Given the description of an element on the screen output the (x, y) to click on. 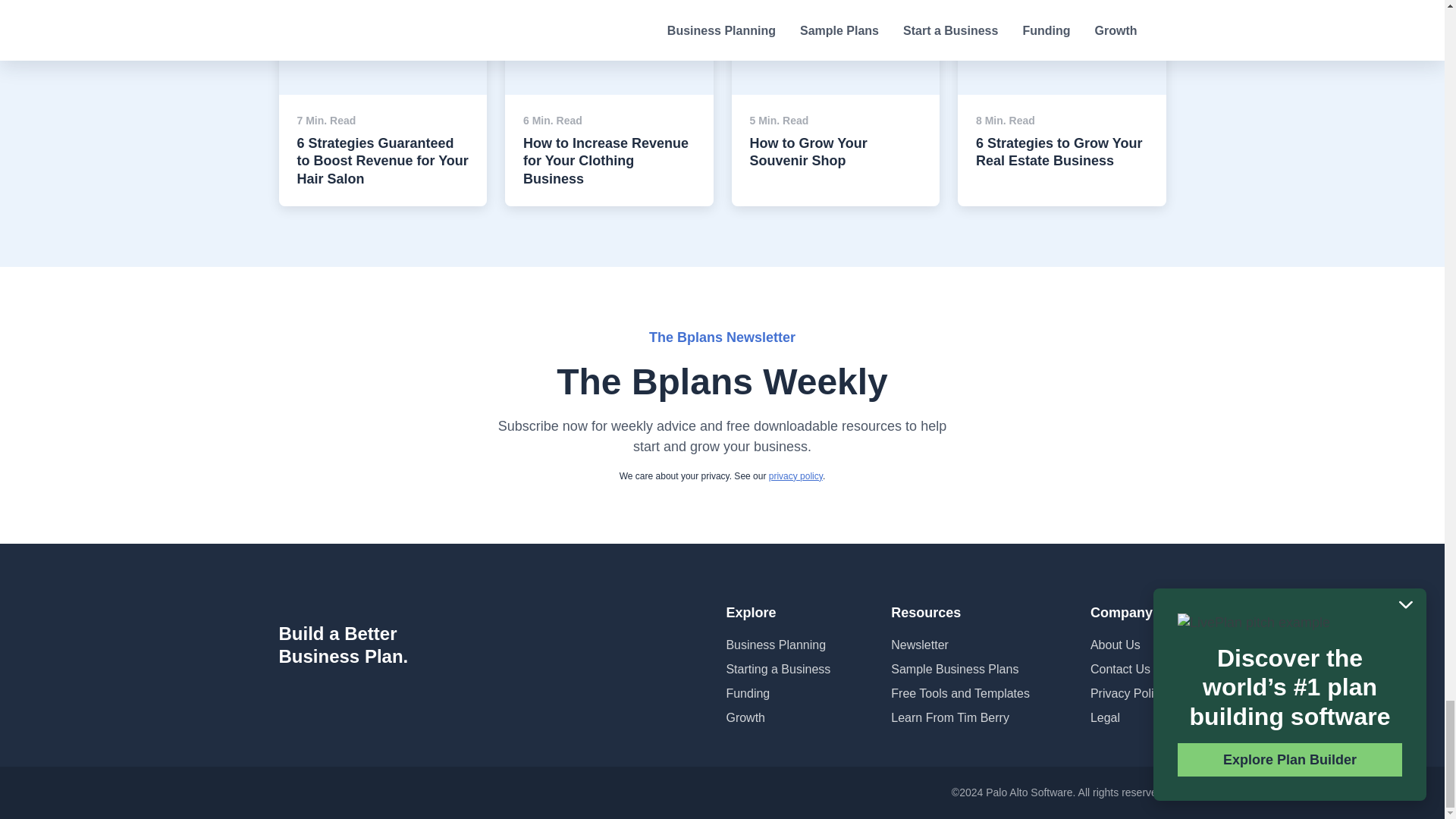
How to grow your coffee business (834, 22)
6 strategies to grow your real estate business (383, 22)
How to increase hotel profit margins (1062, 22)
How to increase revenue for your clothing business (609, 22)
